Given the description of an element on the screen output the (x, y) to click on. 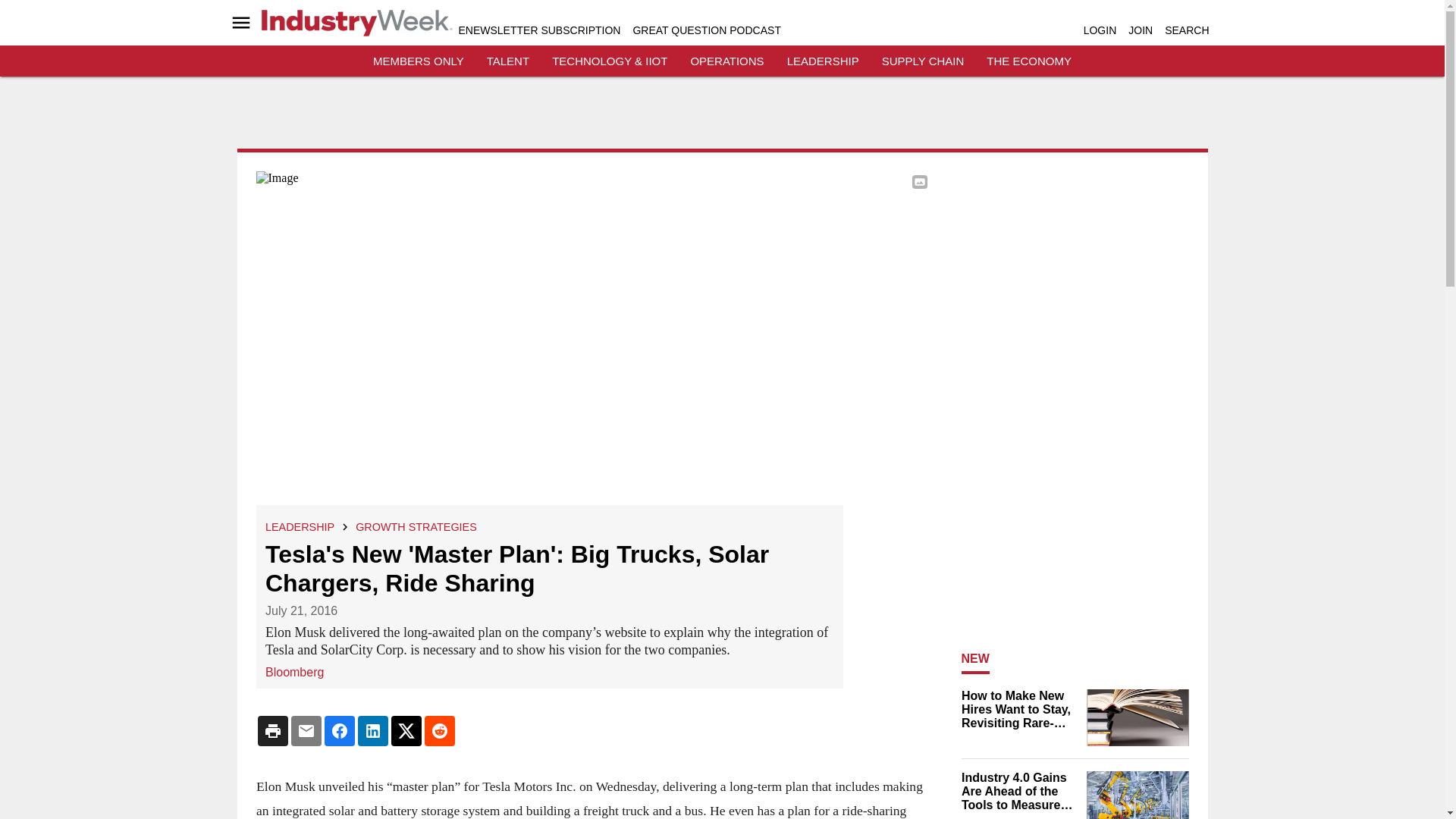
TALENT (507, 60)
THE ECONOMY (1029, 60)
LEADERSHIP (299, 526)
OPERATIONS (726, 60)
ENEWSLETTER SUBSCRIPTION (539, 30)
LOGIN (1099, 30)
JOIN (1140, 30)
GREAT QUESTION PODCAST (705, 30)
SEARCH (1186, 30)
